Given the description of an element on the screen output the (x, y) to click on. 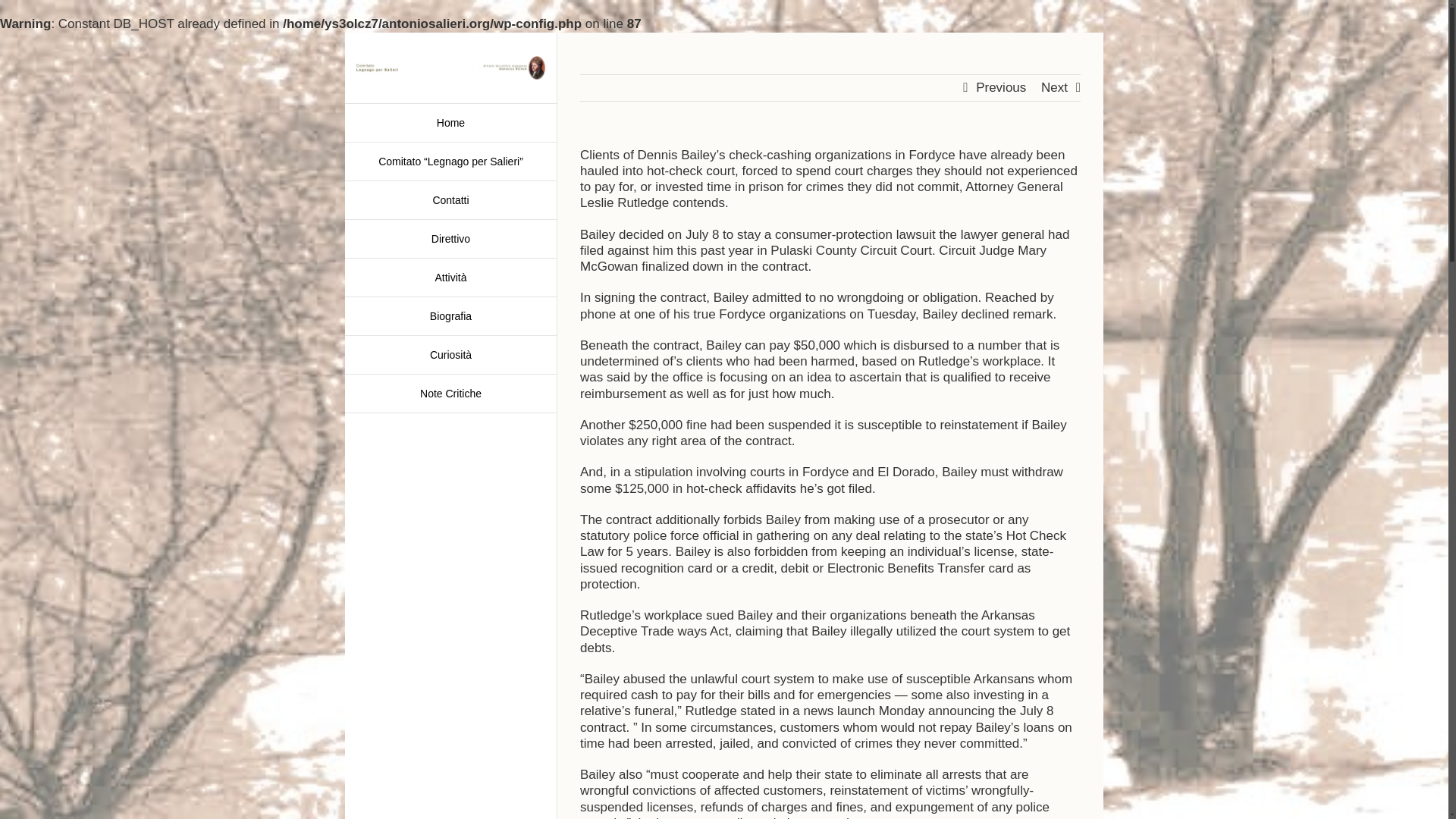
Previous (1000, 86)
Biografia (450, 316)
Direttivo (450, 239)
Contatti (450, 200)
Note Critiche (450, 393)
Next (1054, 86)
Home (450, 122)
